Given the description of an element on the screen output the (x, y) to click on. 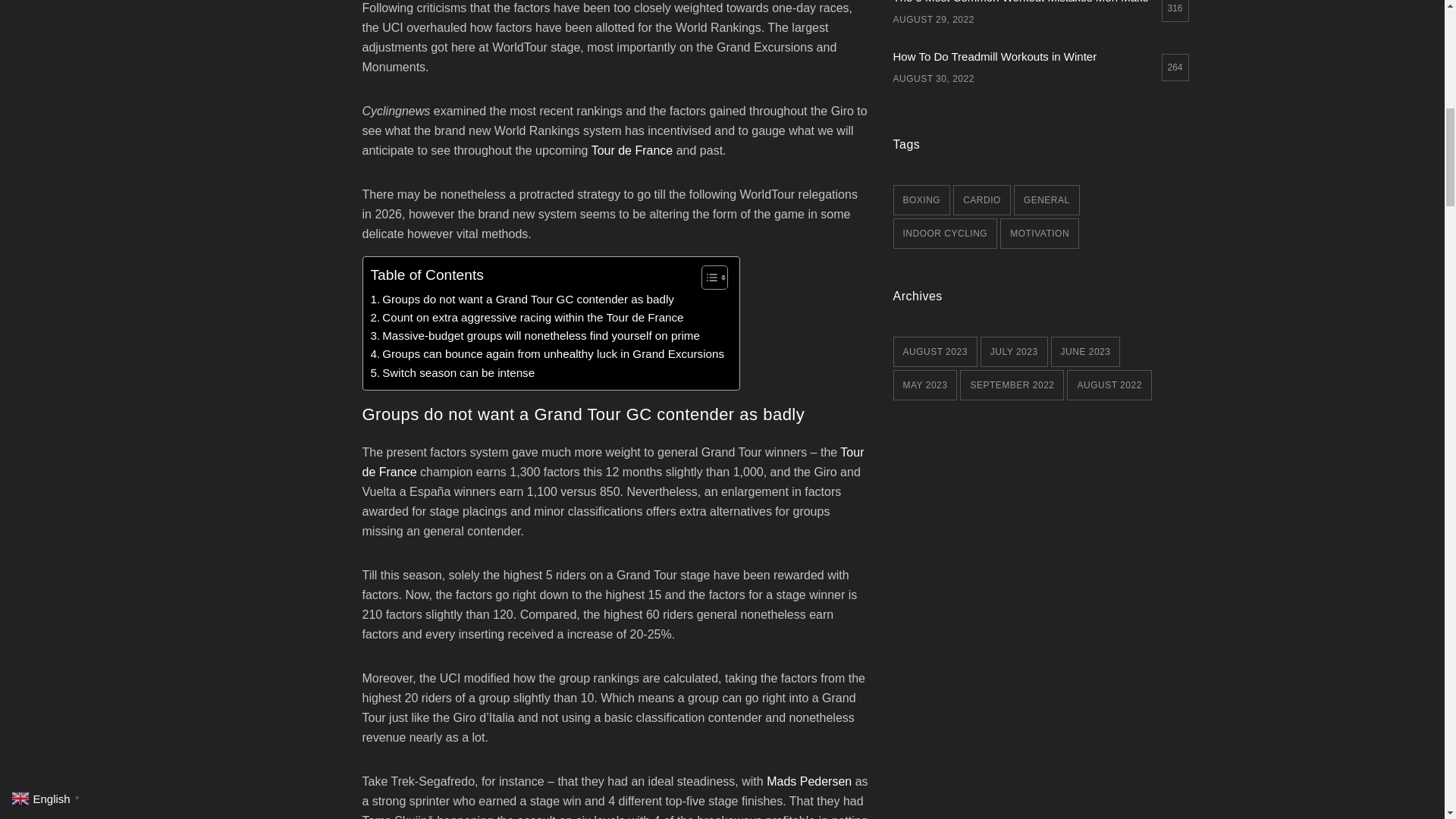
Switch season can be intense (451, 372)
Groups do not want a Grand Tour GC contender as badly (520, 299)
Count on extra aggressive racing within the Tour de France (525, 317)
